Given the description of an element on the screen output the (x, y) to click on. 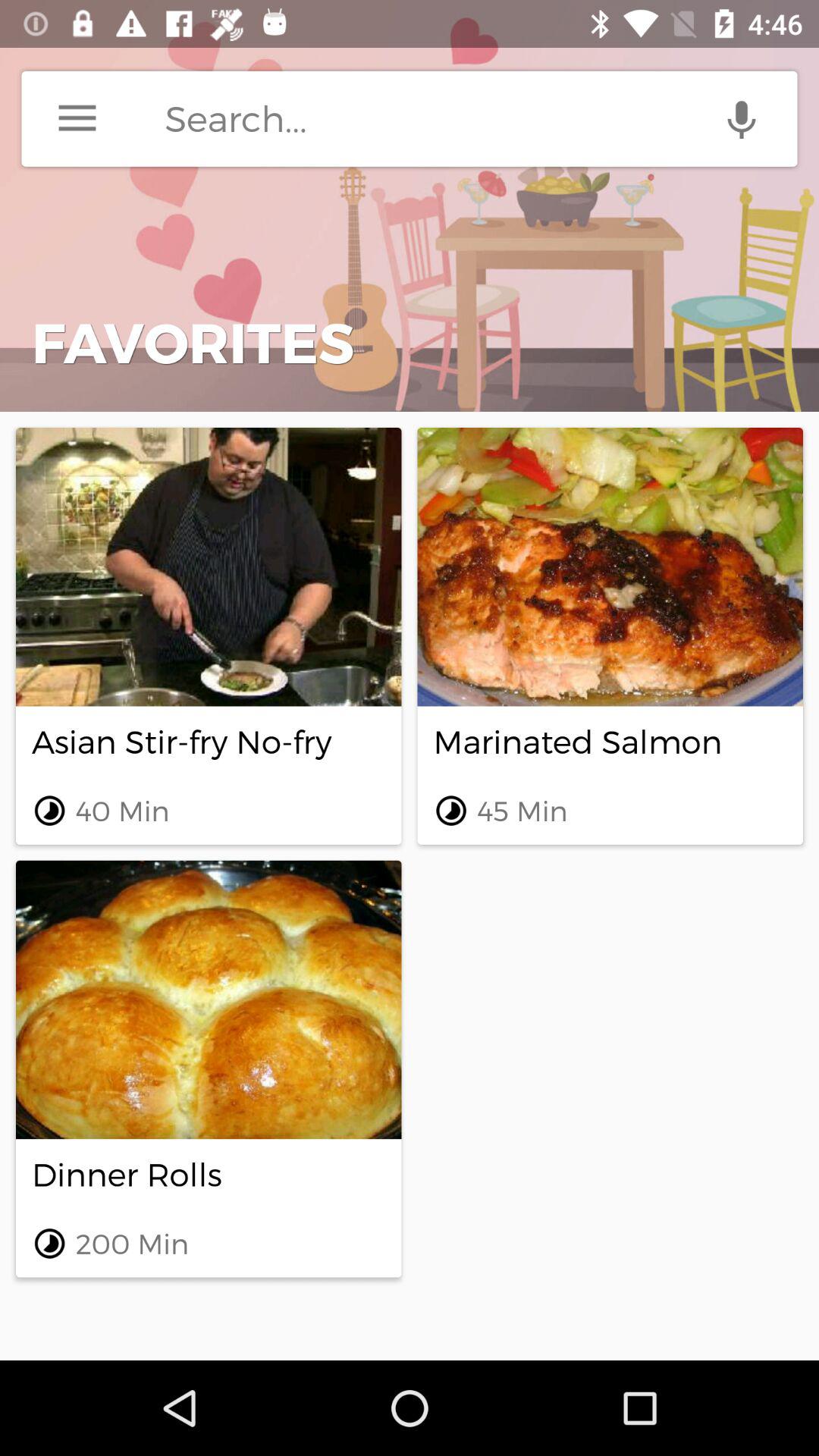
search area (480, 118)
